Given the description of an element on the screen output the (x, y) to click on. 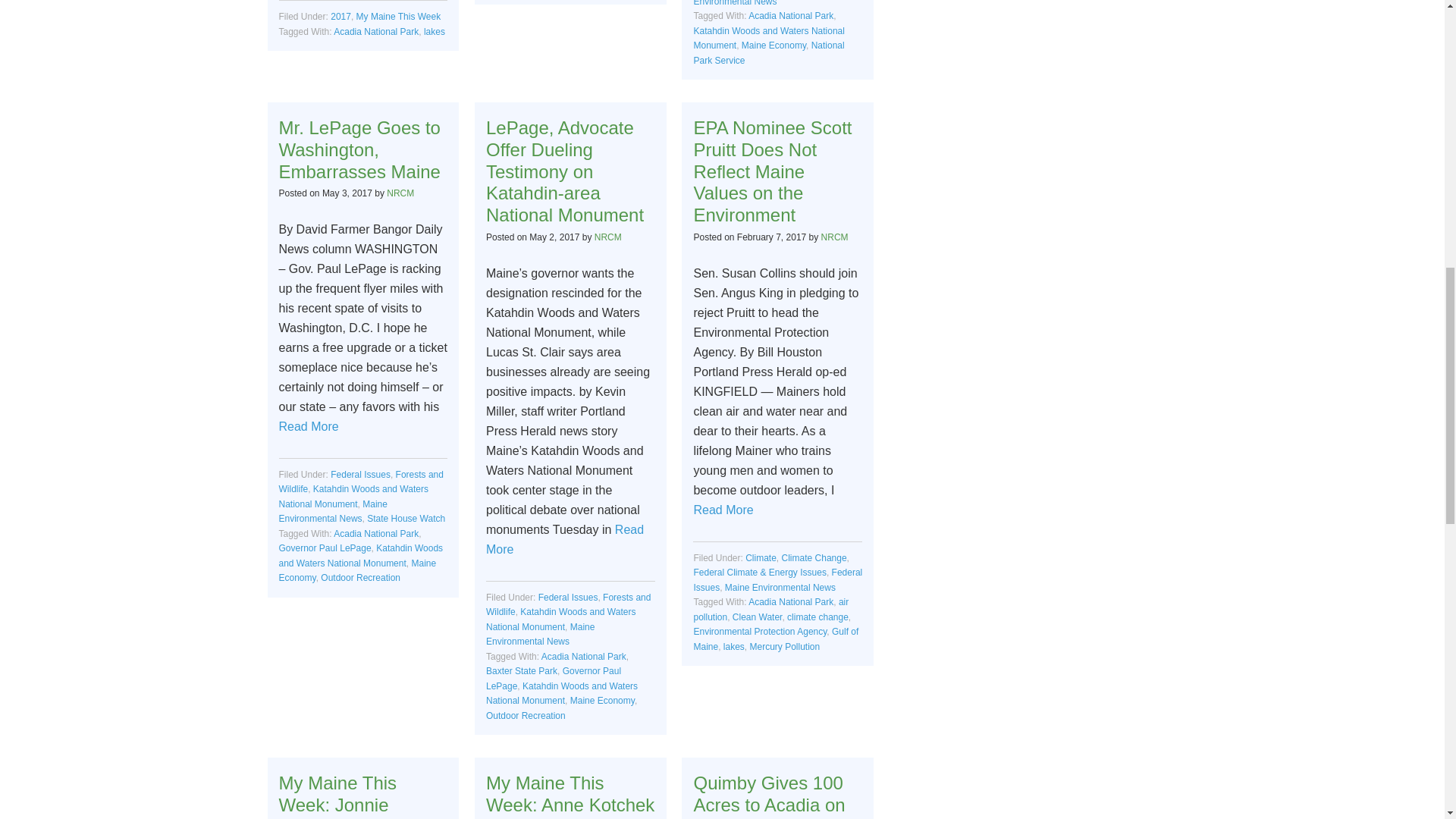
Read More (722, 509)
Read More (309, 426)
Read More (564, 539)
